Given the description of an element on the screen output the (x, y) to click on. 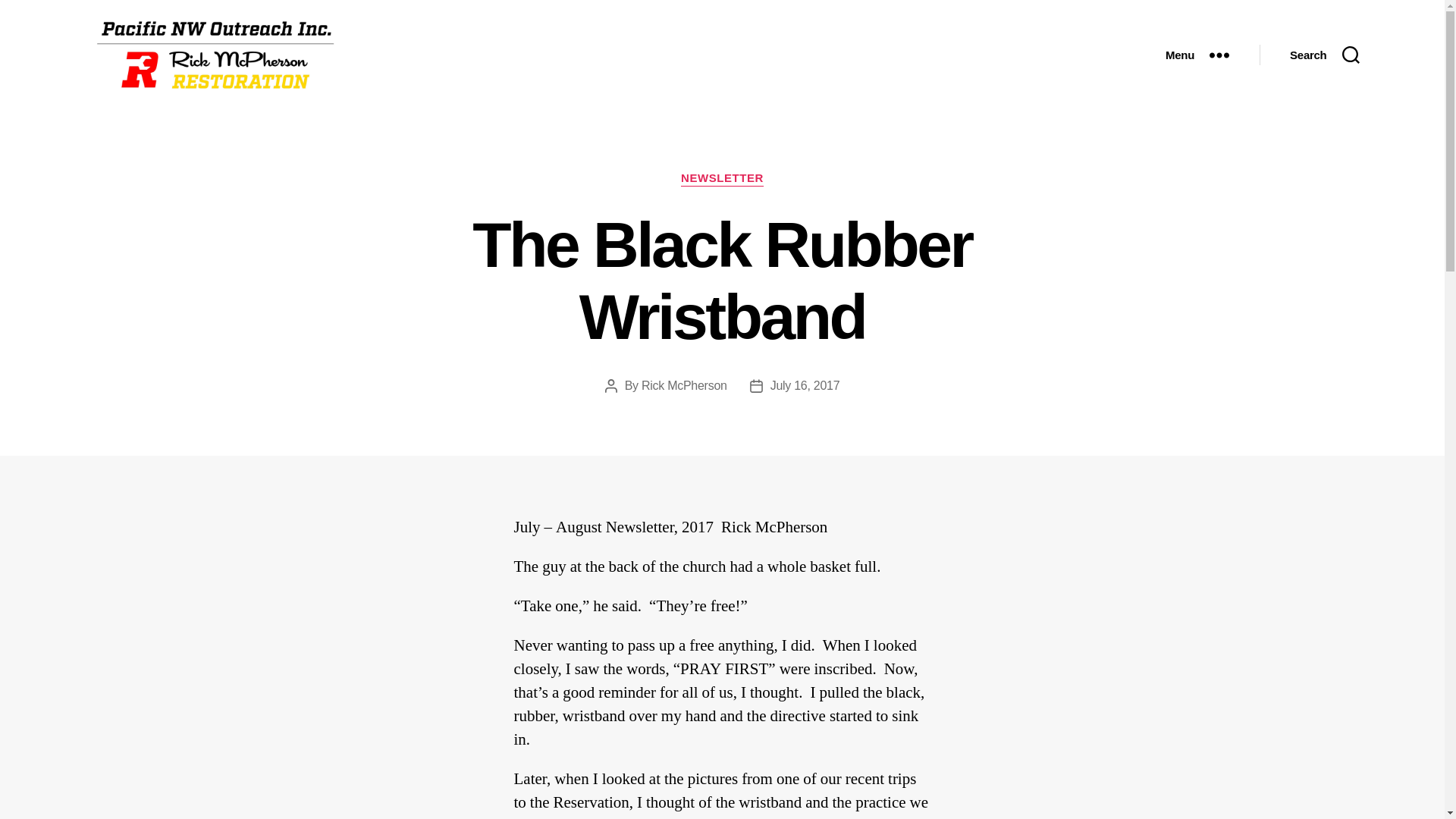
July 16, 2017 (805, 385)
Search (1324, 55)
Menu (1197, 55)
Rick McPherson (684, 385)
NEWSLETTER (721, 178)
